Given the description of an element on the screen output the (x, y) to click on. 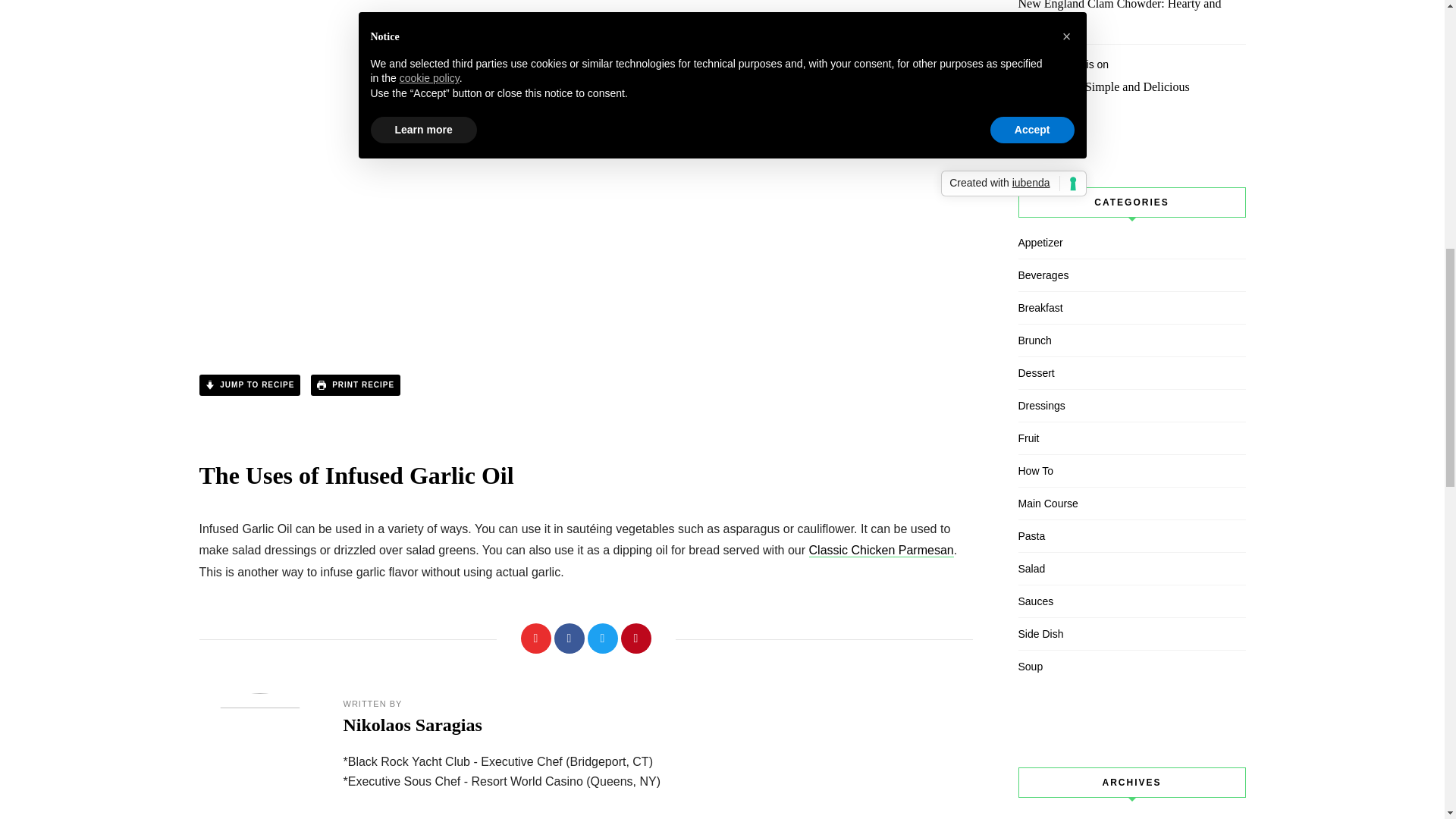
Facebook (568, 638)
PRINT RECIPE (355, 384)
Nikolaos Saragias (411, 724)
JUMP TO RECIPE (248, 384)
Pinterest (635, 638)
Classic Chicken Parmesan (881, 549)
Like (534, 638)
Twitter (601, 638)
